Given the description of an element on the screen output the (x, y) to click on. 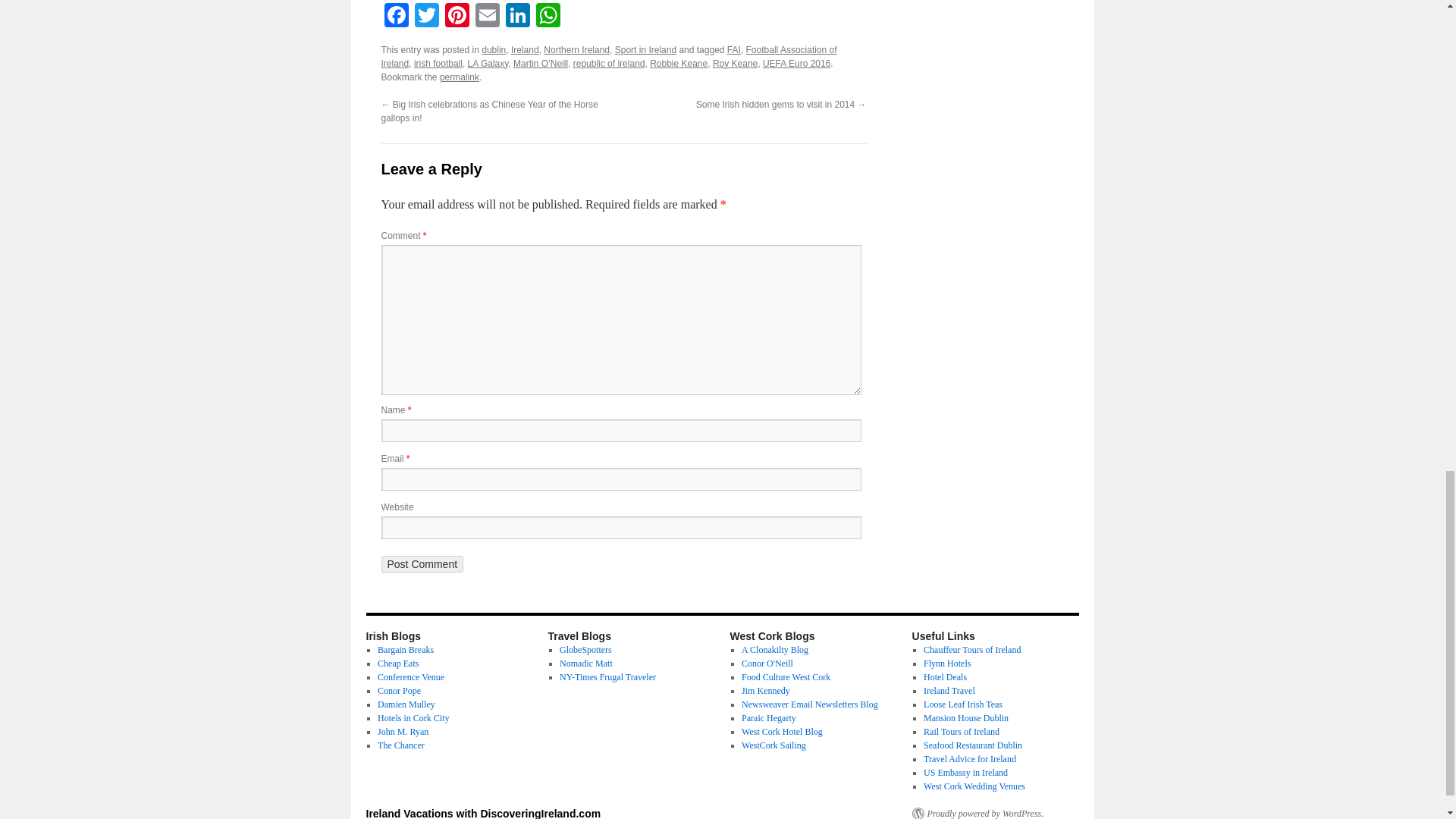
WhatsApp (547, 17)
Post Comment (421, 564)
LA Galaxy (487, 63)
irish football (438, 63)
Facebook (395, 17)
Email (486, 17)
Ireland (524, 50)
dublin (493, 50)
Sport in Ireland (645, 50)
Pinterest (456, 17)
Email (486, 17)
Northern Ireland (576, 50)
Pinterest (456, 17)
Roy Keane (735, 63)
Robbie Keane (678, 63)
